Given the description of an element on the screen output the (x, y) to click on. 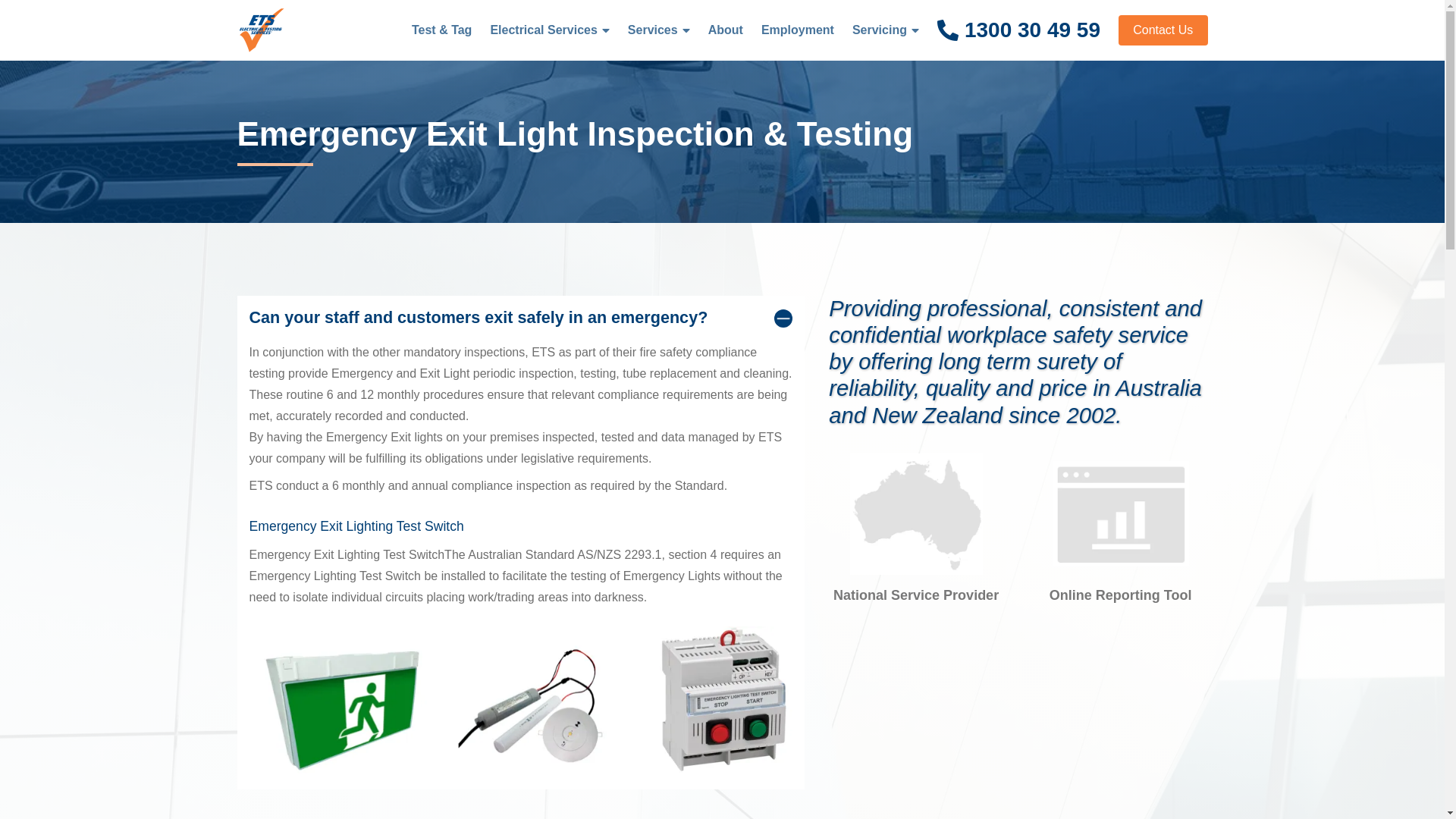
Services Element type: text (652, 29)
Contact Us Element type: text (1163, 30)
Test & Tag Element type: text (441, 29)
Employment Element type: text (797, 29)
About Element type: text (725, 29)
Electrical Services Element type: text (542, 29)
